Given the description of an element on the screen output the (x, y) to click on. 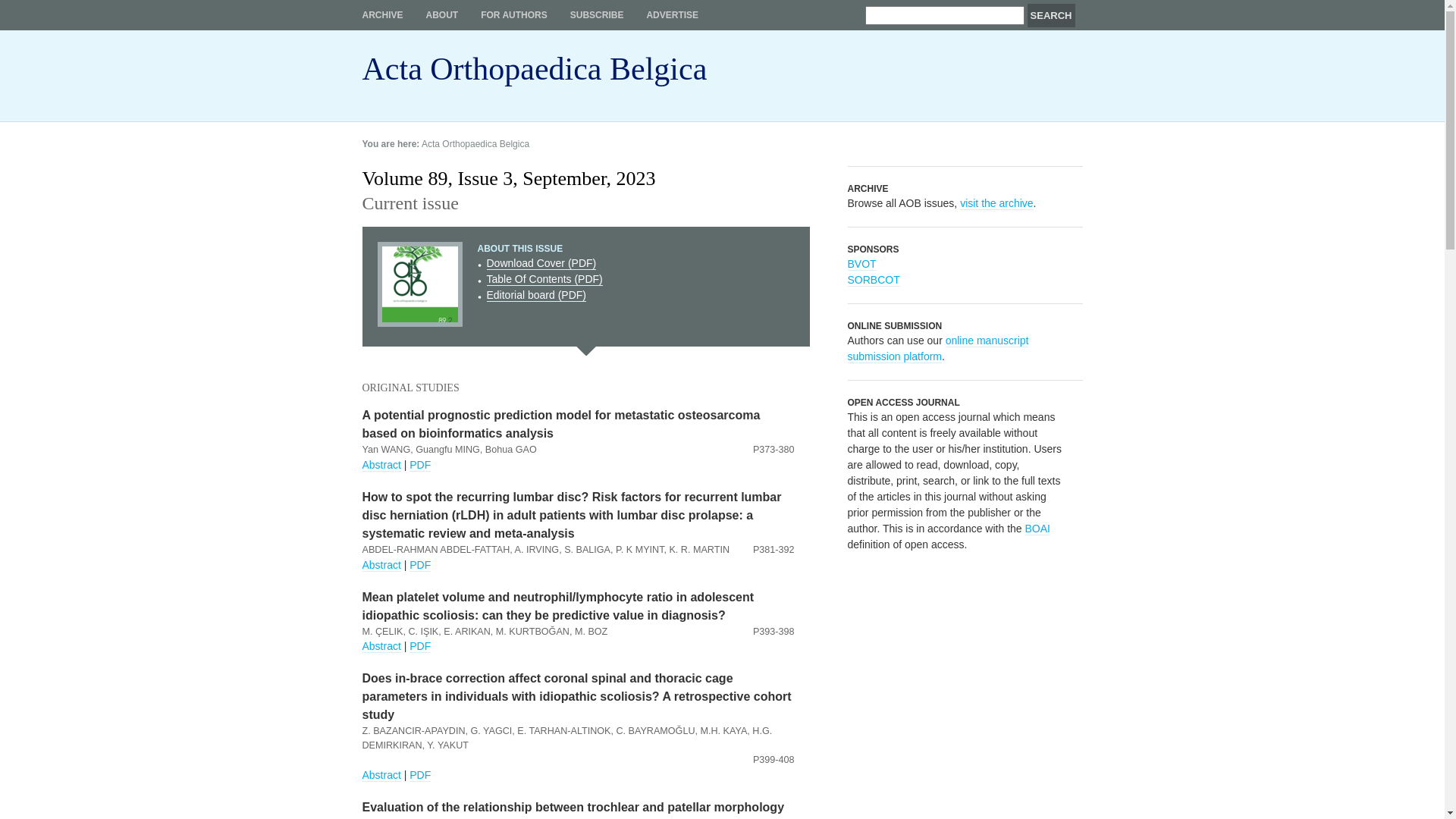
Acta Orthopaedica Belgica Element type: text (534, 75)
FOR AUTHORS Element type: text (513, 15)
Download Cover (PDF) Element type: text (541, 263)
Abstract Element type: text (381, 564)
online manuscript submission platform Element type: text (938, 348)
ABOUT Element type: text (442, 15)
ADVERTISE Element type: text (672, 15)
Table Of Contents (PDF) Element type: text (544, 279)
ARCHIVE Element type: text (382, 15)
PDF Element type: text (419, 774)
BVOT Element type: text (861, 263)
PDF Element type: text (419, 464)
Editorial board (PDF) Element type: text (536, 294)
SORBCOT Element type: text (873, 279)
Search Element type: text (1051, 15)
PDF Element type: text (419, 646)
Abstract Element type: text (381, 646)
Abstract Element type: text (381, 464)
visit the archive Element type: text (996, 203)
SUBSCRIBE Element type: text (597, 15)
PDF Element type: text (419, 564)
Abstract Element type: text (381, 774)
BOAI Element type: text (1036, 528)
